Given the description of an element on the screen output the (x, y) to click on. 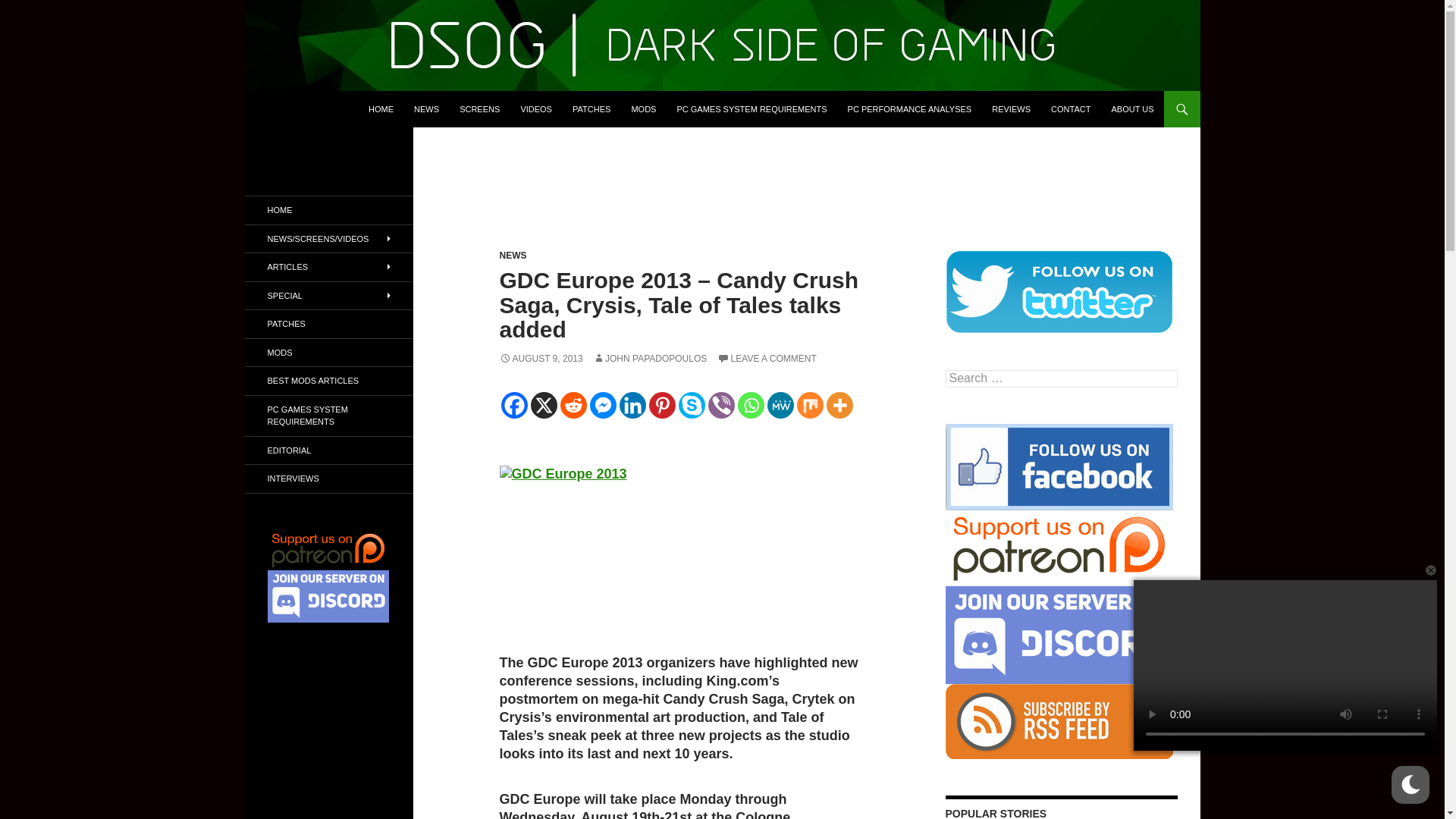
More (840, 405)
MeWe (780, 405)
VIDEOS (535, 108)
JOHN PAPADOPOULOS (649, 357)
Skype (691, 405)
ABOUT US (1131, 108)
PC PERFORMANCE ANALYSES (909, 108)
REVIEWS (1010, 108)
Pinterest (662, 405)
NEWS (512, 255)
X (544, 405)
MODS (643, 108)
HOME (381, 108)
